Given the description of an element on the screen output the (x, y) to click on. 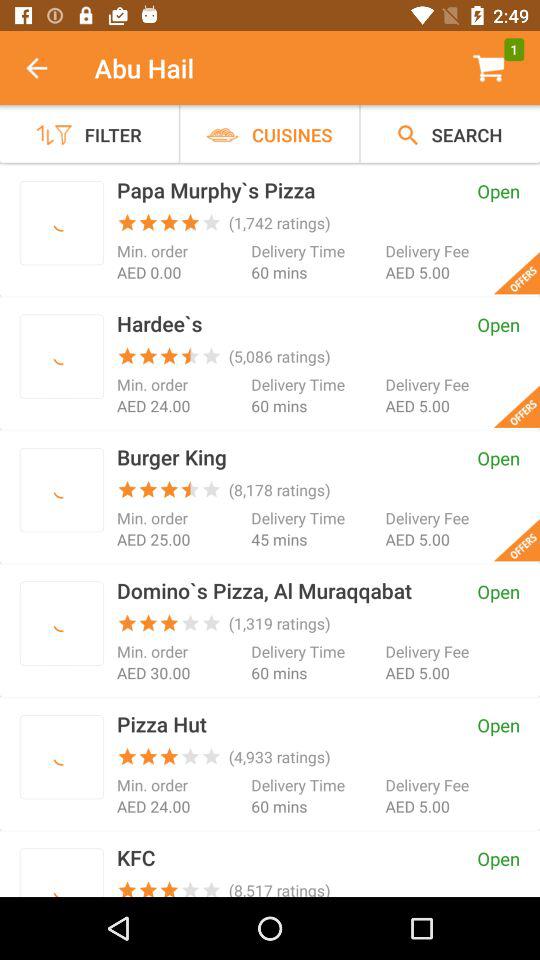
select this restaurant to order from (61, 222)
